Given the description of an element on the screen output the (x, y) to click on. 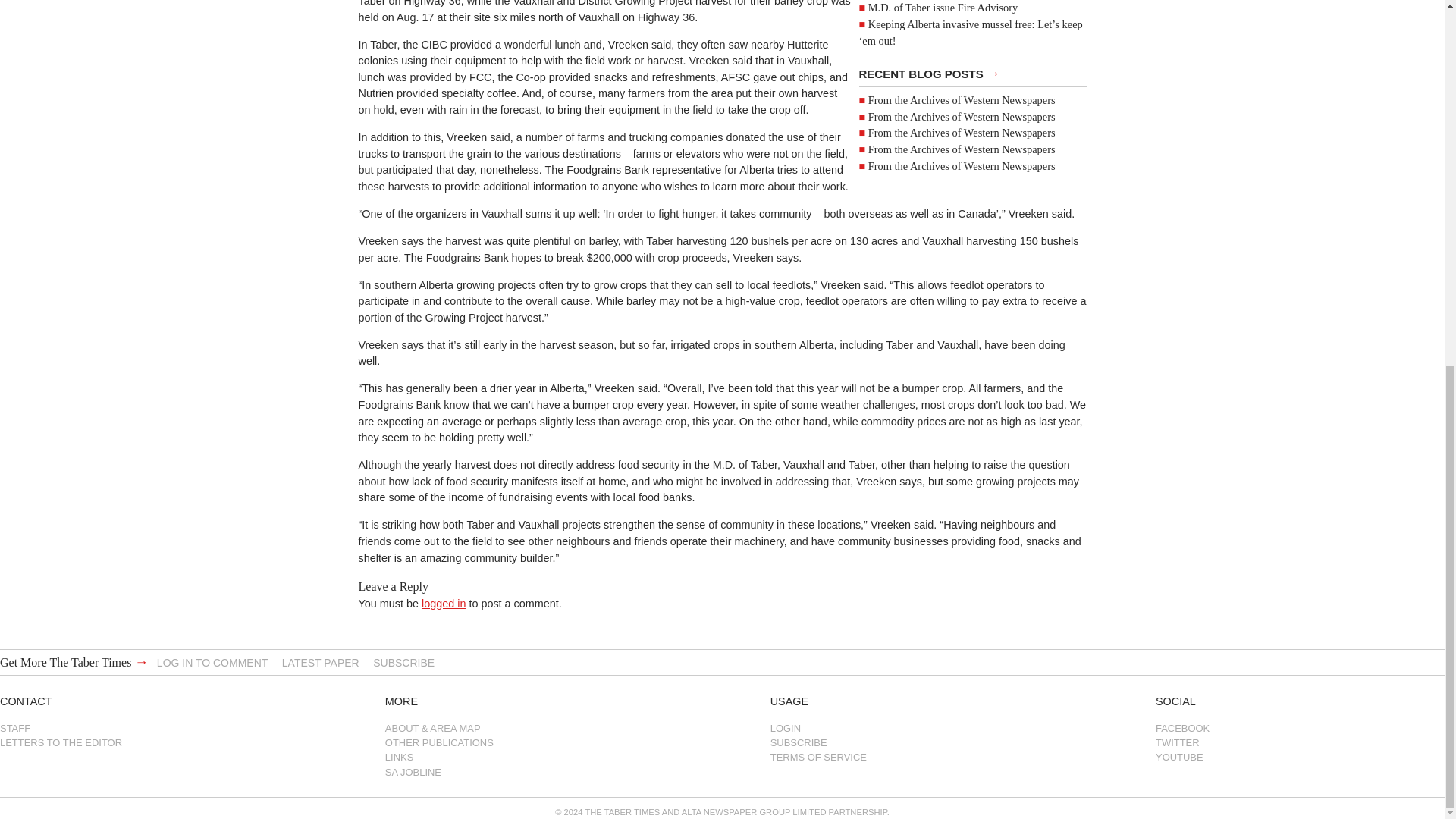
From the Archives of Western Newspapers (961, 155)
From the Archives of Western Newspapers (961, 188)
From the Archives of Western Newspapers (961, 140)
From the Archives of Western Newspapers (961, 173)
From the Archives of Western Newspapers (961, 205)
